Given the description of an element on the screen output the (x, y) to click on. 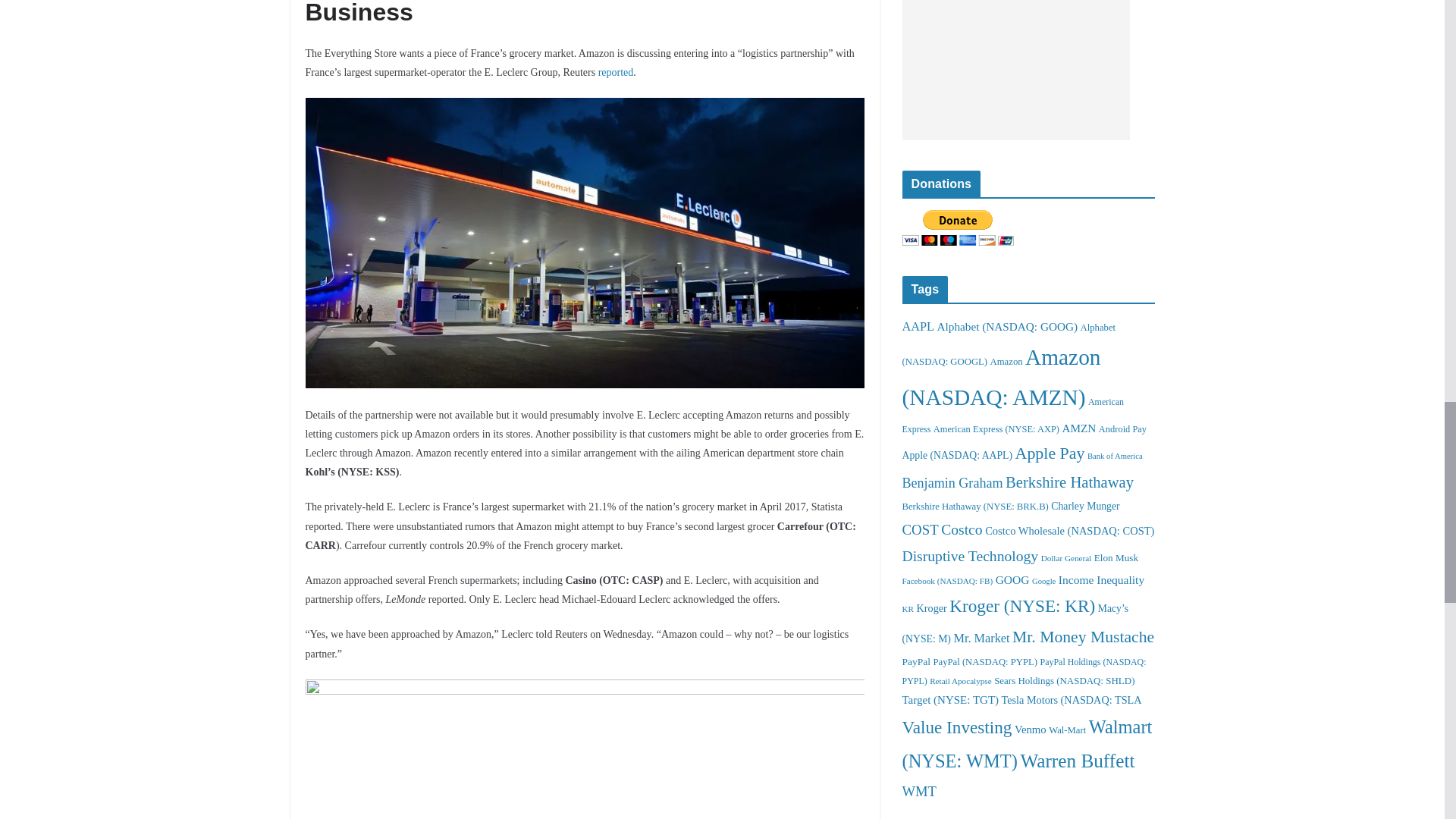
reported (615, 71)
